Given the description of an element on the screen output the (x, y) to click on. 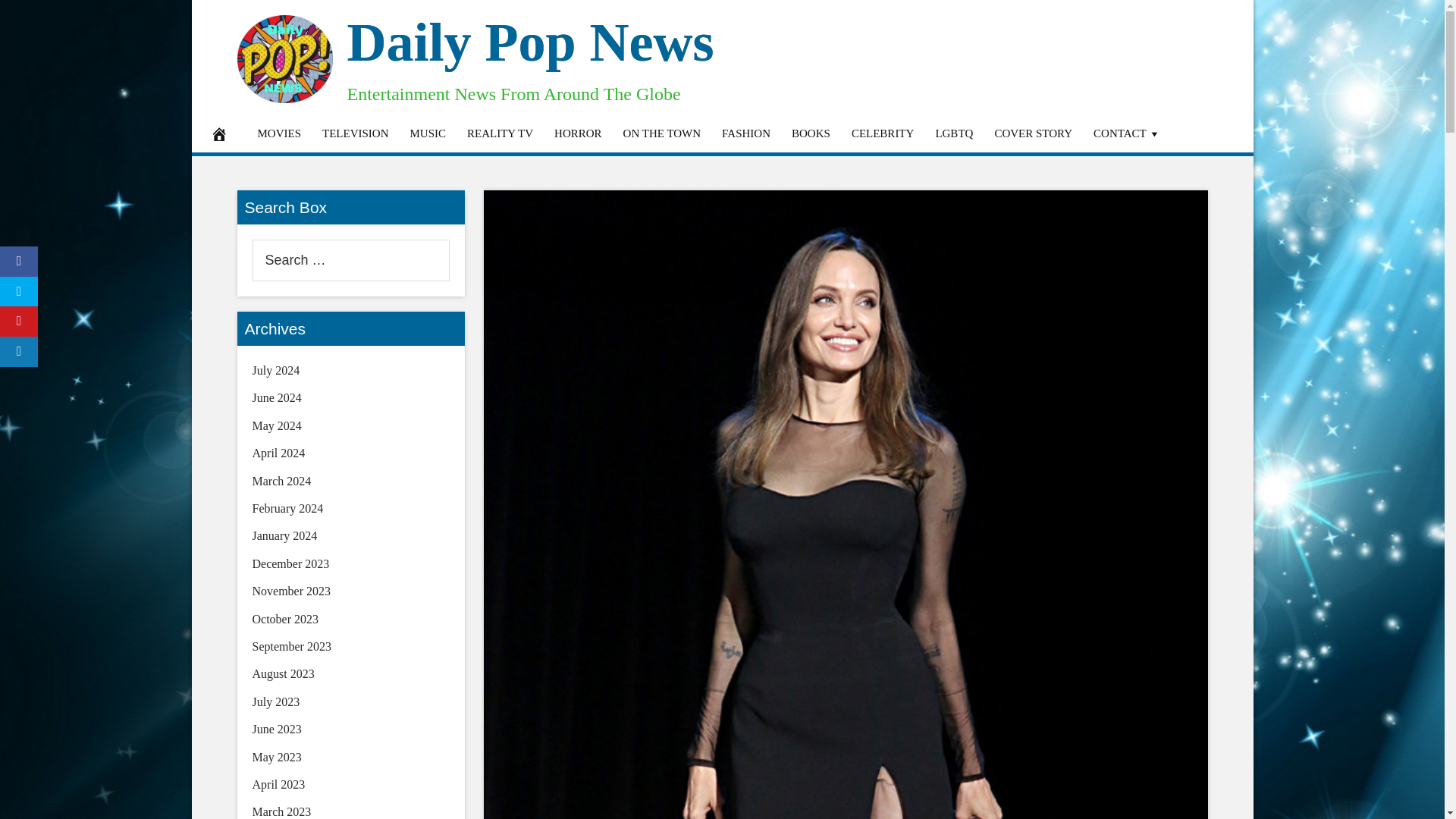
FASHION (745, 133)
COVER STORY (1033, 133)
MOVIES (280, 133)
TELEVISION (354, 133)
LGBTQ (954, 133)
CONTACT (1127, 133)
Daily Pop News (530, 42)
REALITY TV (500, 133)
ON THE TOWN (661, 133)
CELEBRITY (882, 133)
BOOKS (810, 133)
MUSIC (427, 133)
HORROR (577, 133)
